Given the description of an element on the screen output the (x, y) to click on. 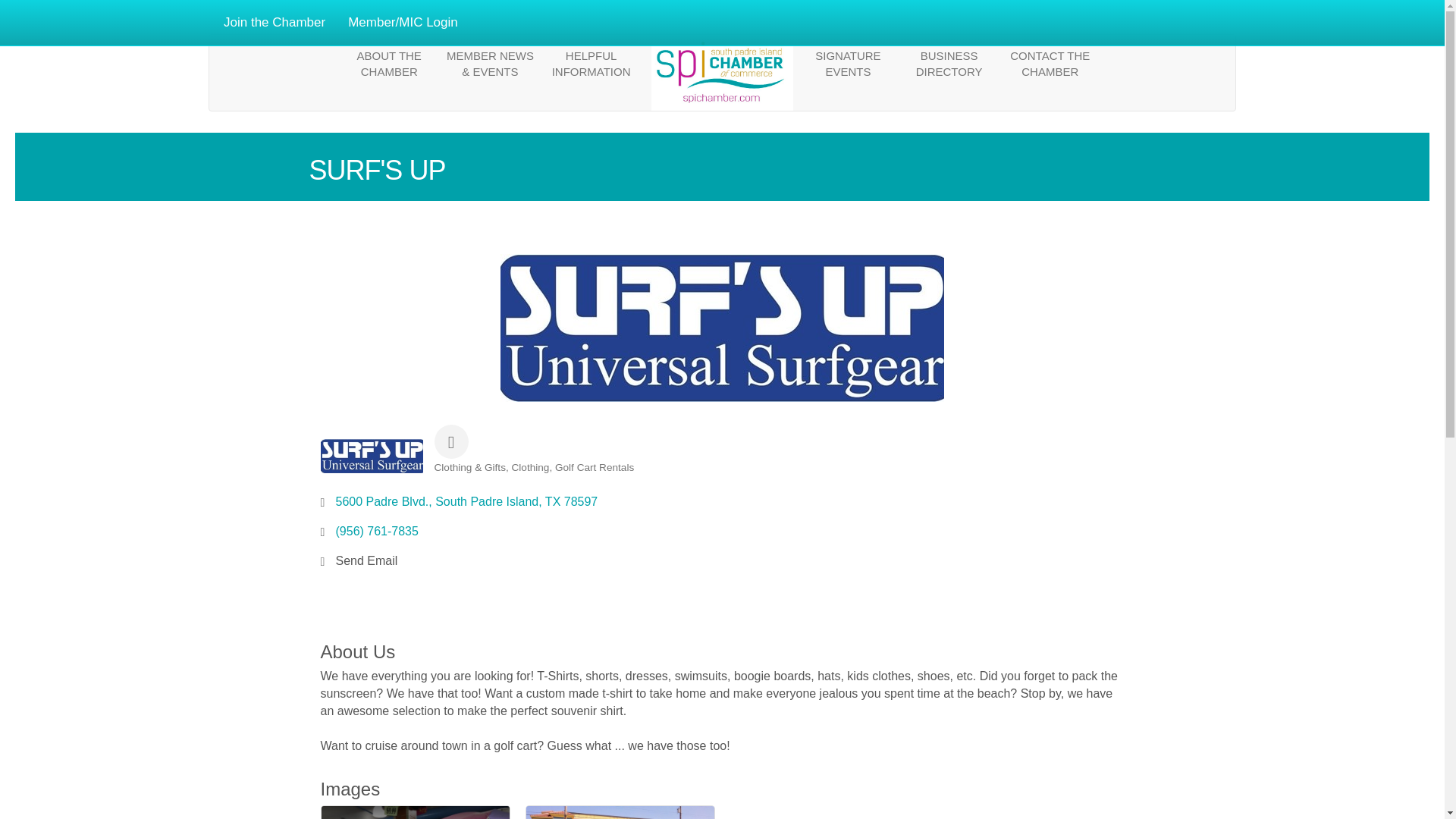
Join the Chamber (274, 22)
Surf's Up (371, 455)
HELPFUL INFORMATION (593, 63)
Surf's Up (721, 327)
ABOUT THE CHAMBER (391, 63)
Gallery Image SurfsUpX2.jpg (619, 812)
